Given the description of an element on the screen output the (x, y) to click on. 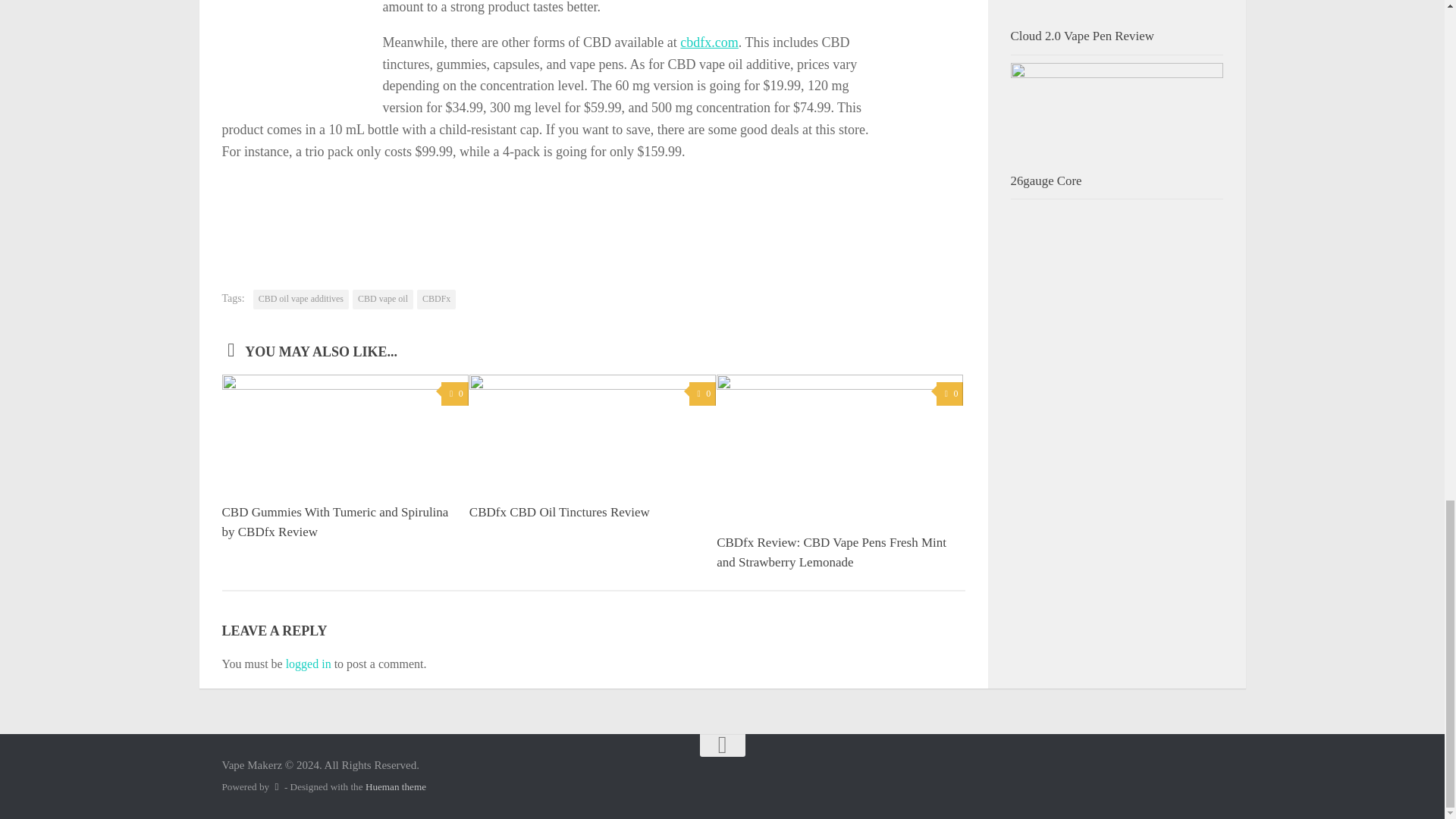
CBD oil vape additives (301, 299)
cbdfx.com (708, 42)
CBDFx (435, 299)
Powered by WordPress (275, 786)
CBD Gummies With Tumeric and Spirulina by CBDfx Review (334, 521)
0 (949, 393)
CBDfx CBD Oil Tinctures Review (558, 512)
0 (702, 393)
logged in (308, 663)
Hueman theme (395, 786)
0 (454, 393)
CBD vape oil (382, 299)
